Given the description of an element on the screen output the (x, y) to click on. 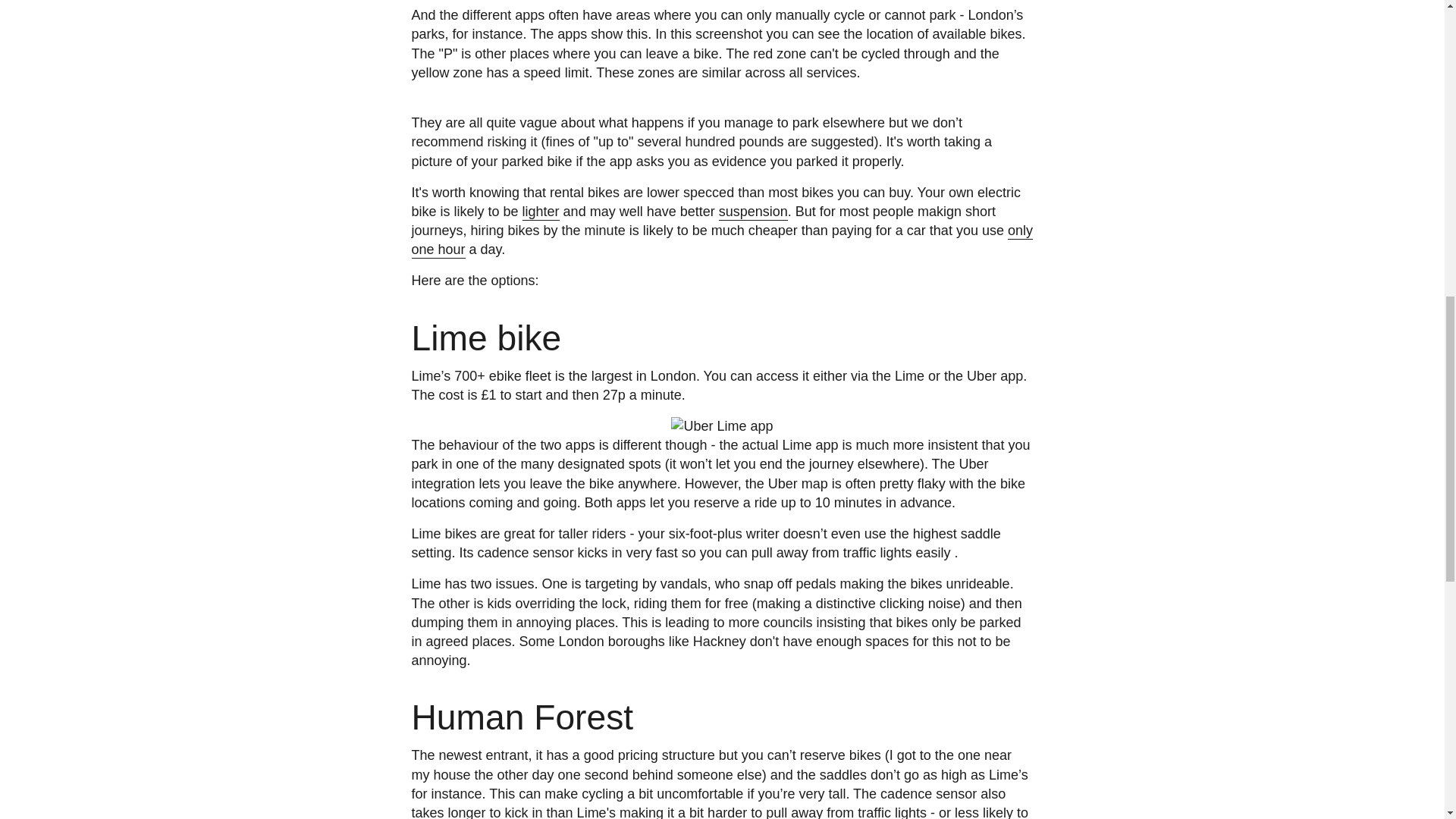
Lightweight electric bikes (540, 211)
